Given the description of an element on the screen output the (x, y) to click on. 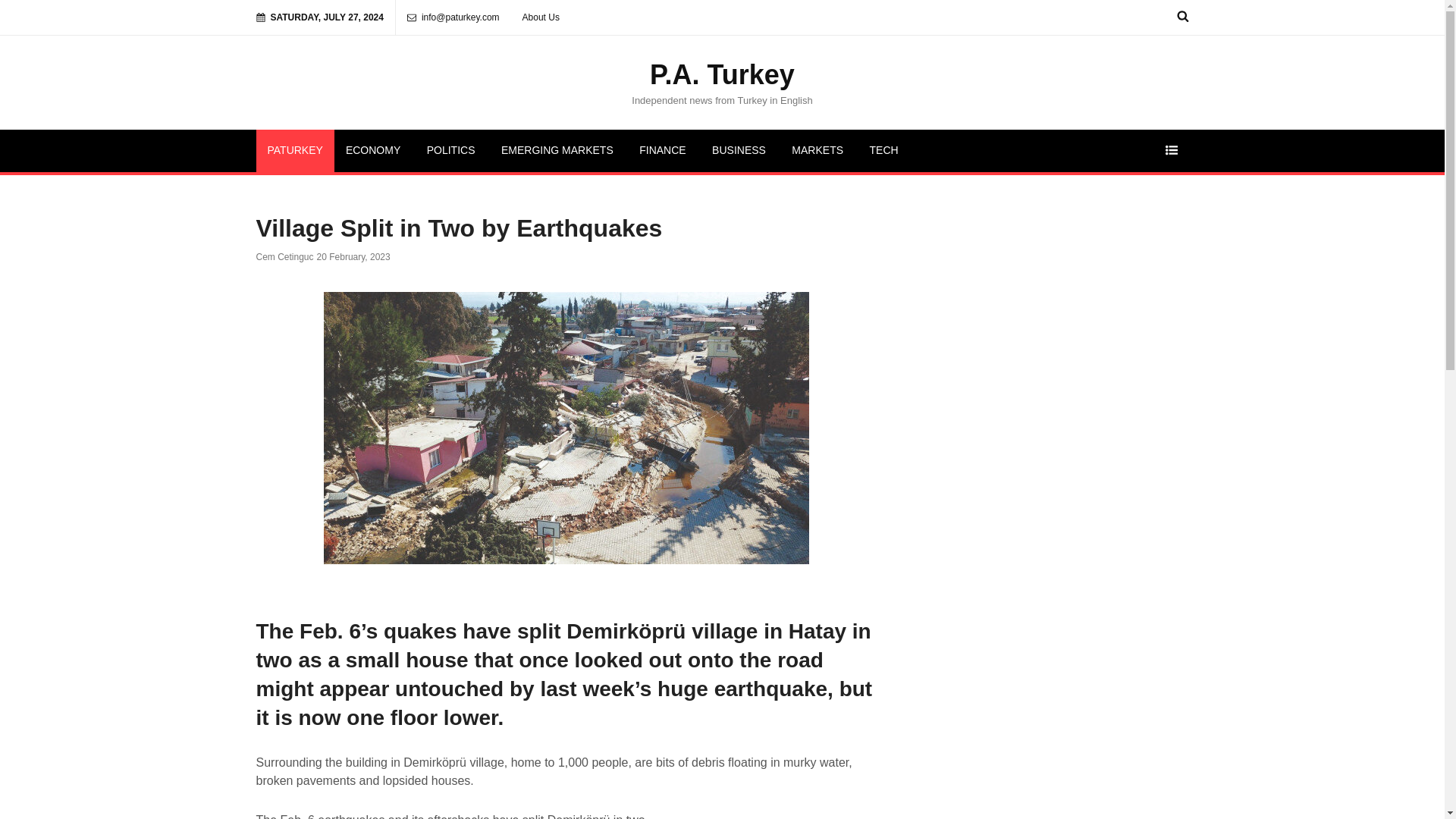
POLITICS (450, 150)
20 February, 2023 (353, 256)
About Us (540, 17)
TECH (884, 150)
ECONOMY (373, 150)
PATURKEY (295, 150)
MARKETS (817, 150)
EMERGING MARKETS (556, 150)
P.A. Turkey (721, 74)
Cem Cetinguc (285, 256)
FINANCE (662, 150)
BUSINESS (738, 150)
